Given the description of an element on the screen output the (x, y) to click on. 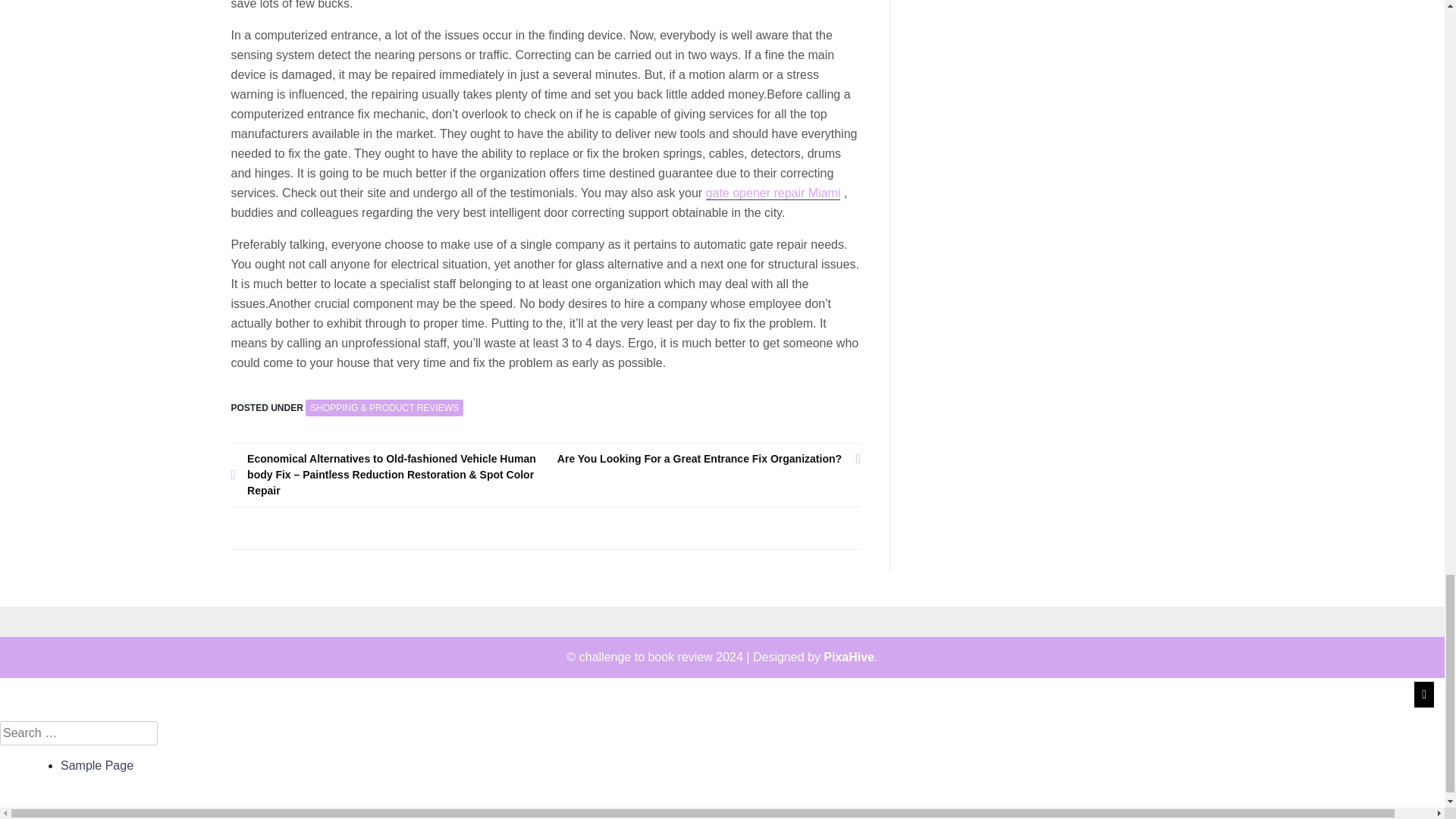
Are You Looking For a Great Entrance Fix Organization?  (703, 458)
gate opener repair Miami (773, 192)
